Given the description of an element on the screen output the (x, y) to click on. 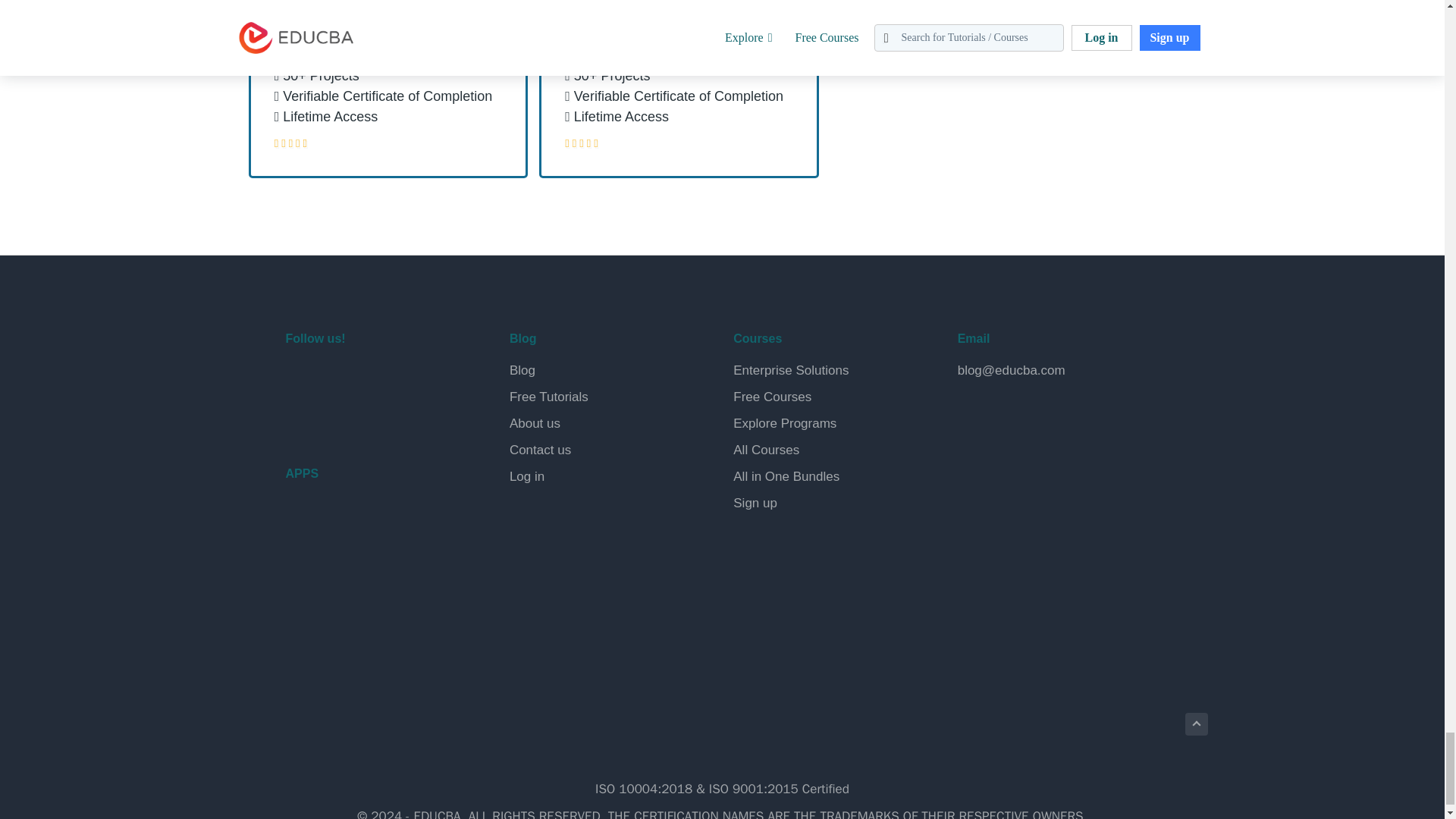
EDUCBA Facebook (300, 378)
EDUCBA Twitter (336, 378)
EDUCBA Coursera (336, 417)
EDUCBA Instagram (408, 378)
EDUCBA Udemy (371, 417)
EDUCBA Youtube (300, 417)
EDUCBA LinkedIN (371, 378)
EDUCBA iOS App (360, 592)
EDUCBA Android App (360, 527)
